Given the description of an element on the screen output the (x, y) to click on. 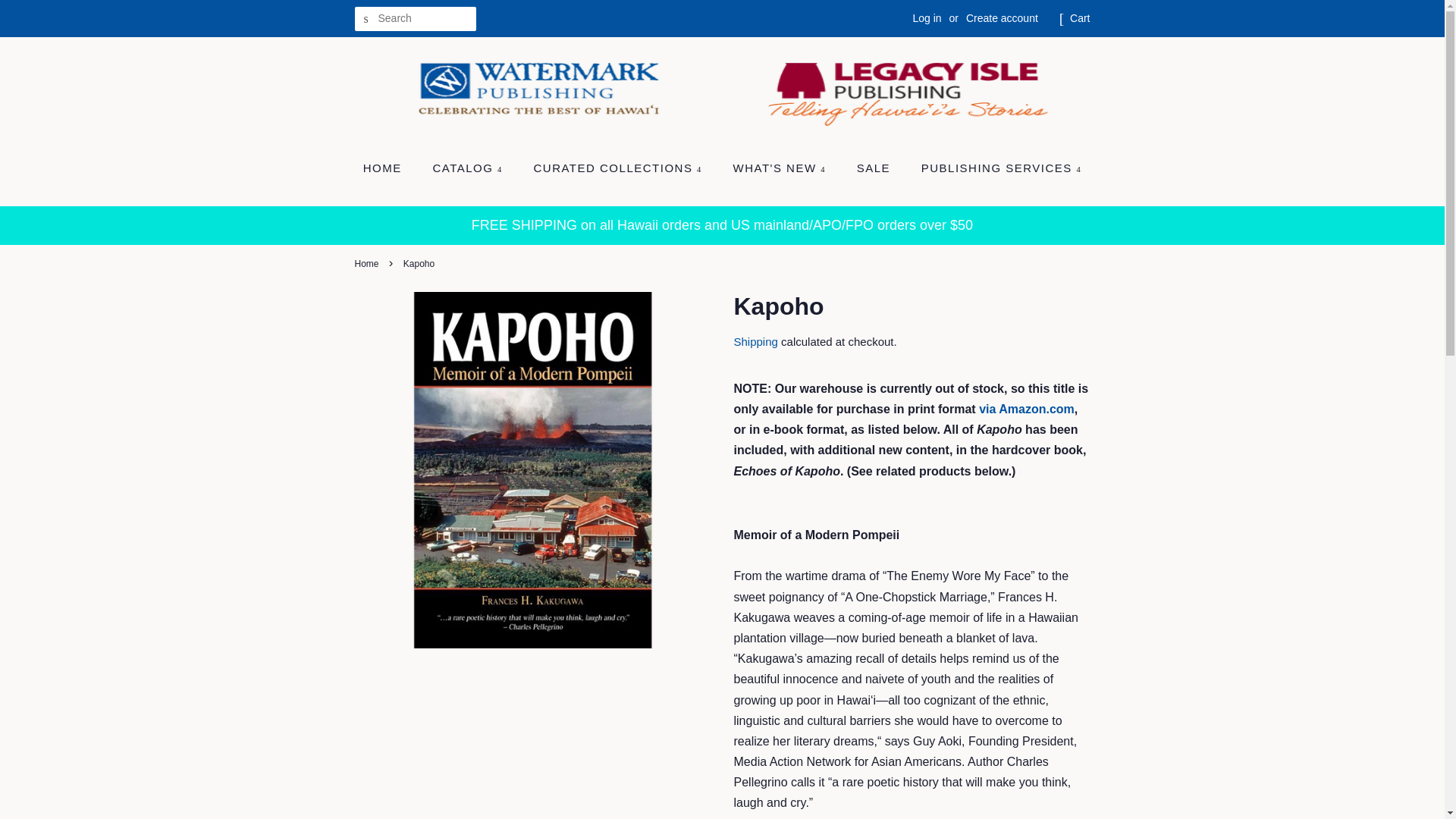
Cart (1079, 18)
SEARCH (366, 18)
Create account (1002, 18)
Back to the frontpage (368, 263)
Log in (927, 18)
